Given the description of an element on the screen output the (x, y) to click on. 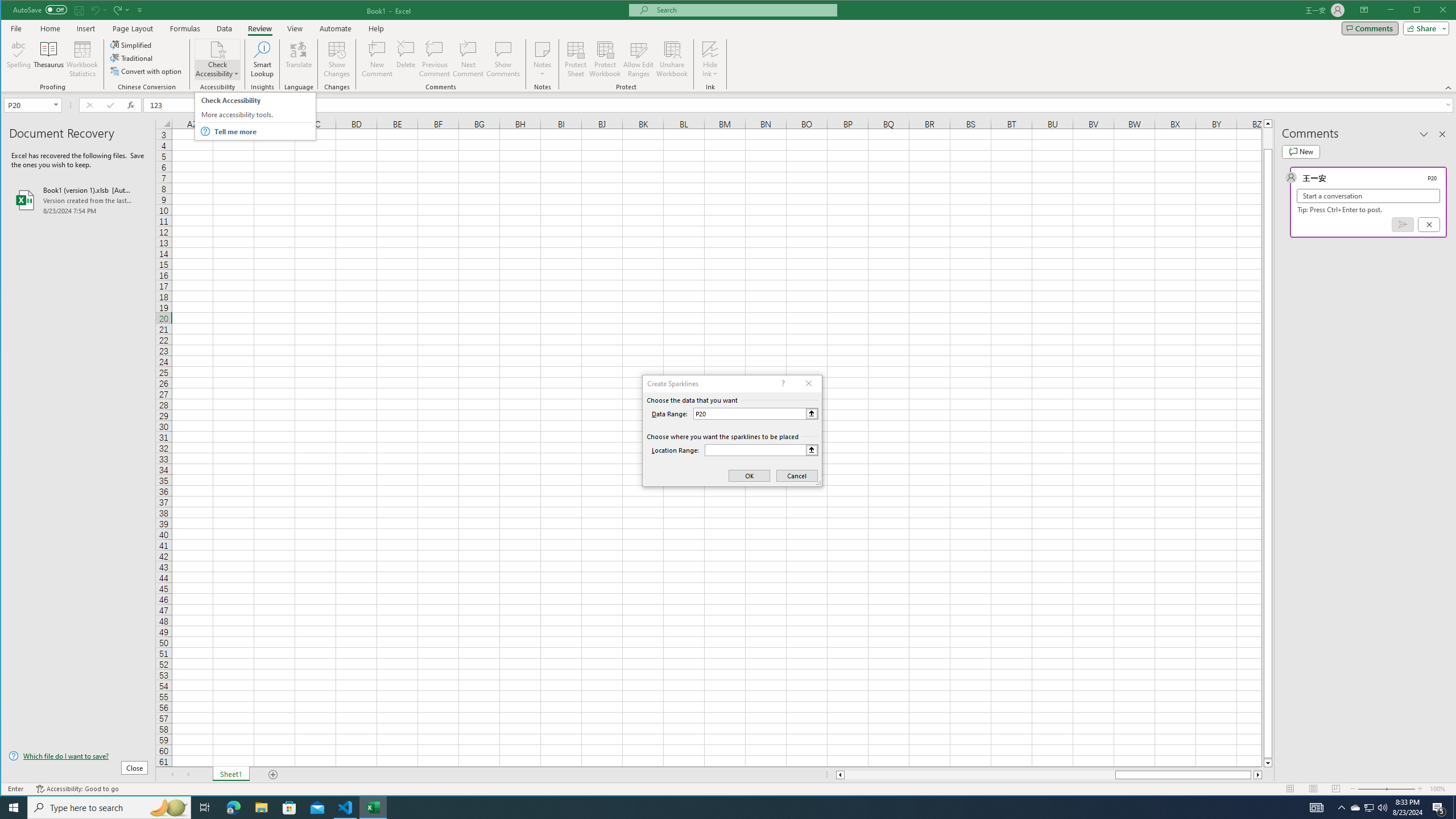
Maximize (1432, 11)
